Given the description of an element on the screen output the (x, y) to click on. 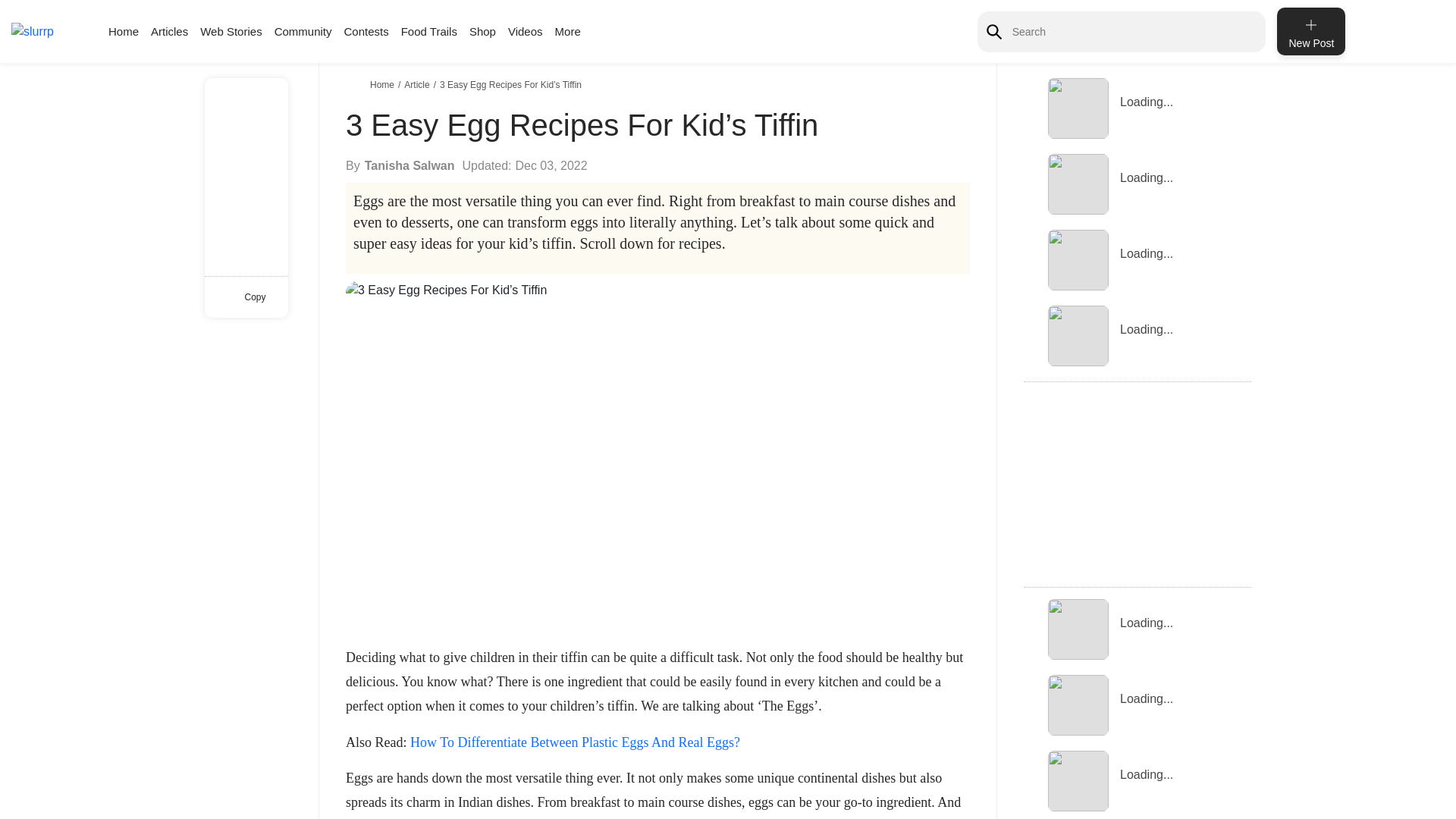
Article (418, 84)
Web Stories (231, 31)
Home (122, 31)
Food Trails (429, 31)
Articles (169, 31)
New Post (1310, 31)
Shop (482, 31)
Videos (525, 31)
Home (383, 84)
Contests (365, 31)
